Given the description of an element on the screen output the (x, y) to click on. 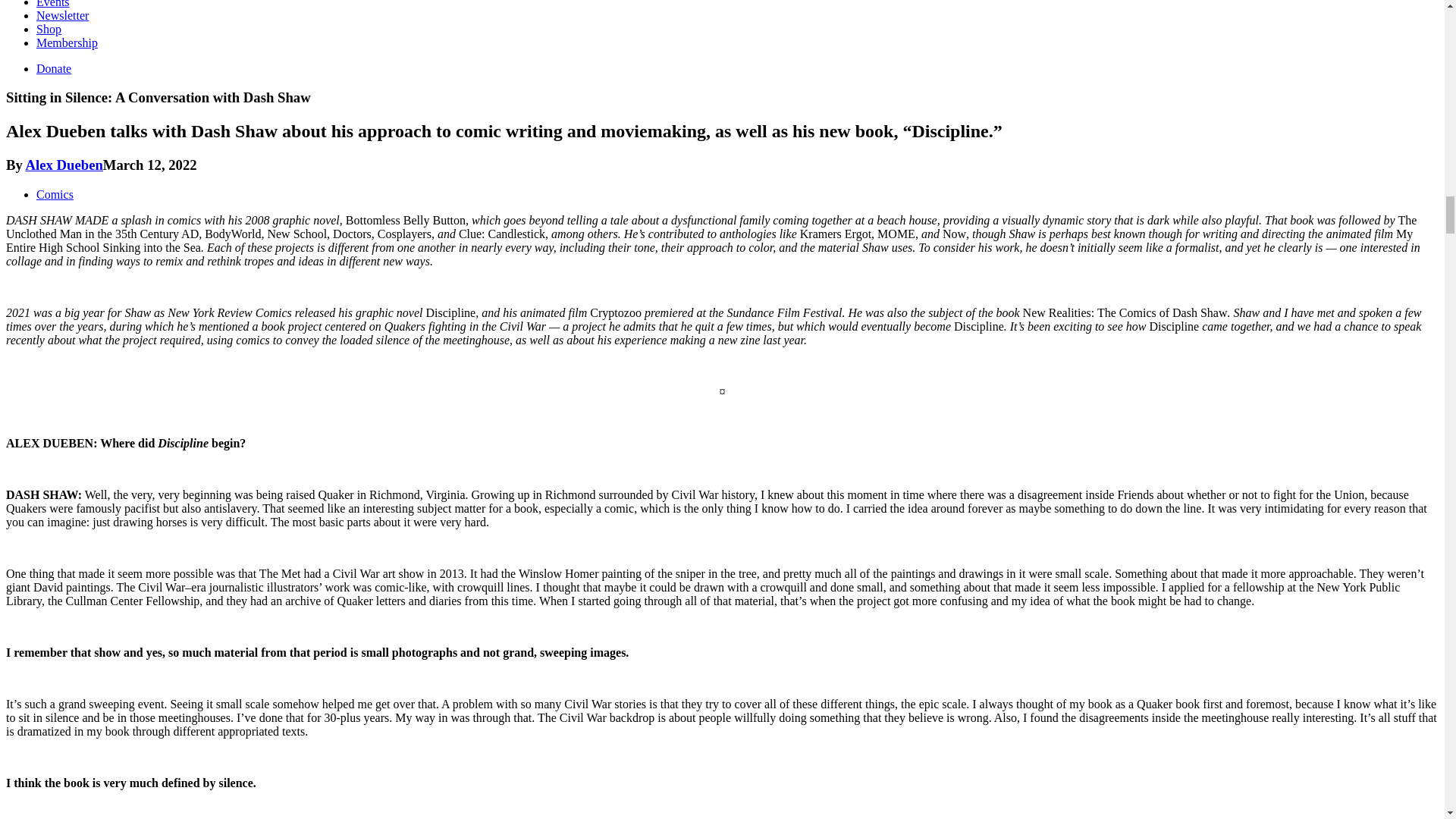
Newsletter (62, 15)
Events (52, 4)
Shop (48, 29)
Alex Dueben (62, 164)
Membership (66, 42)
